Given the description of an element on the screen output the (x, y) to click on. 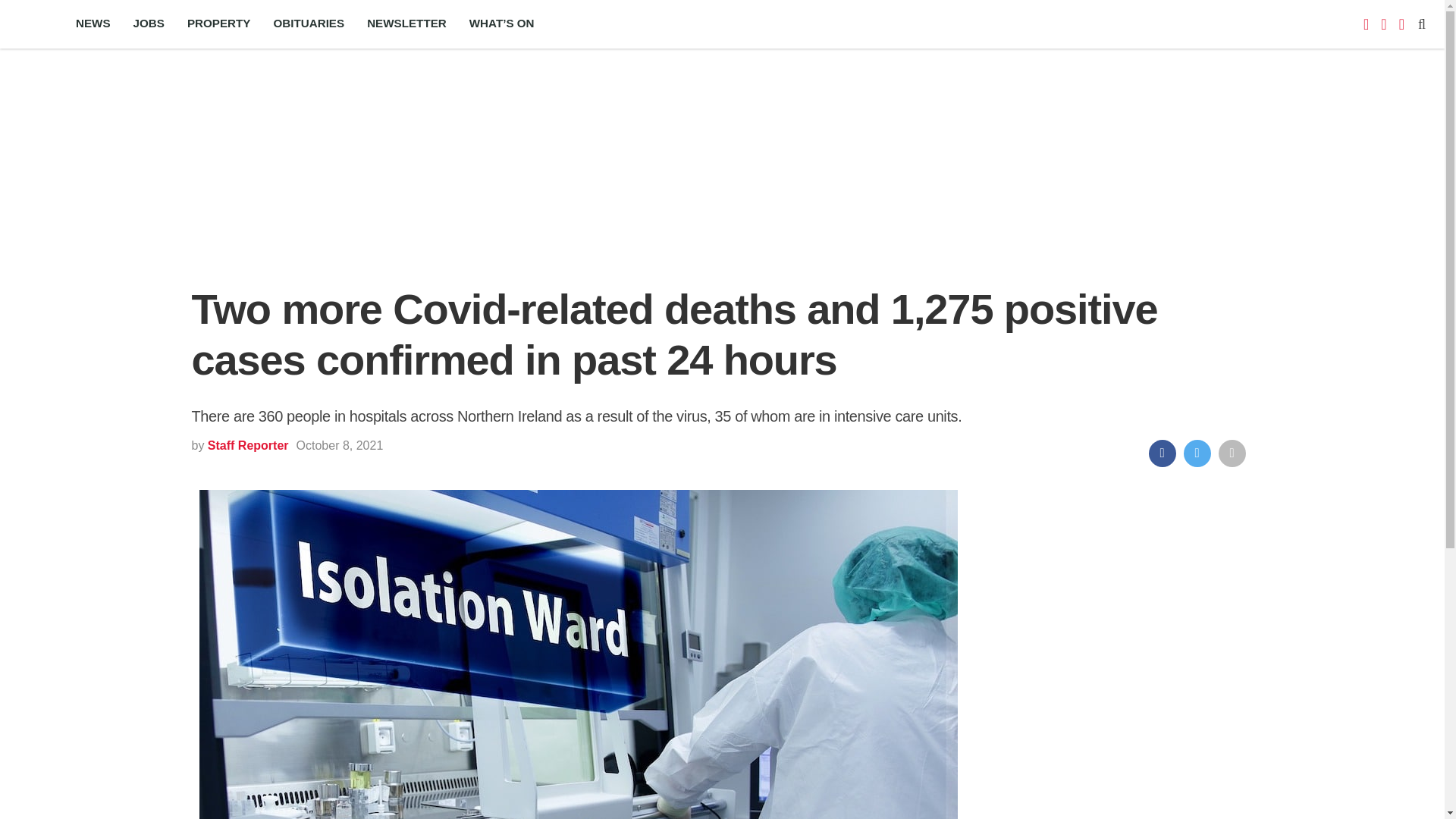
Posts by Staff Reporter (248, 445)
NEWS (93, 24)
